Given the description of an element on the screen output the (x, y) to click on. 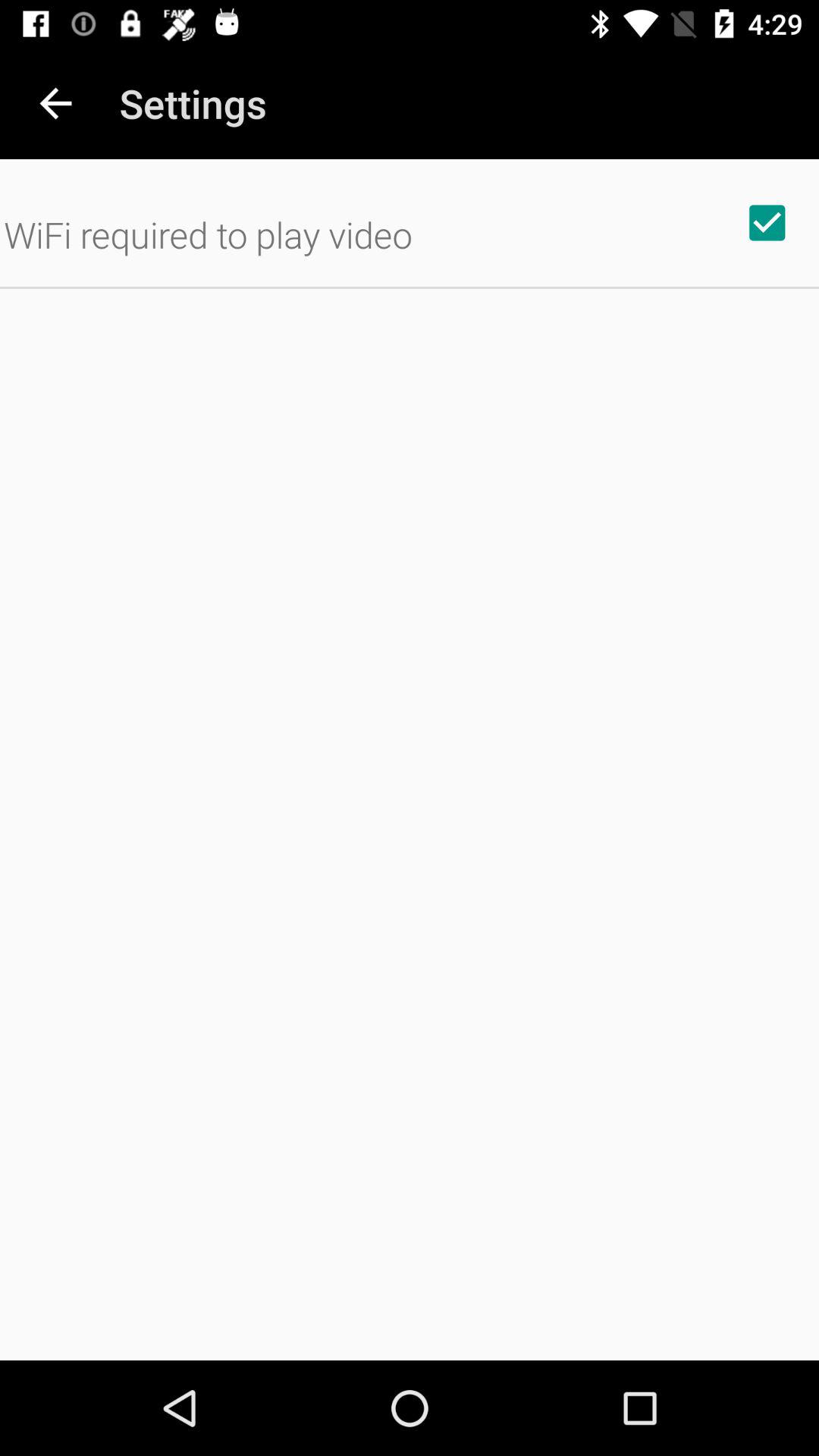
launch the app above the wifi required to icon (55, 103)
